Given the description of an element on the screen output the (x, y) to click on. 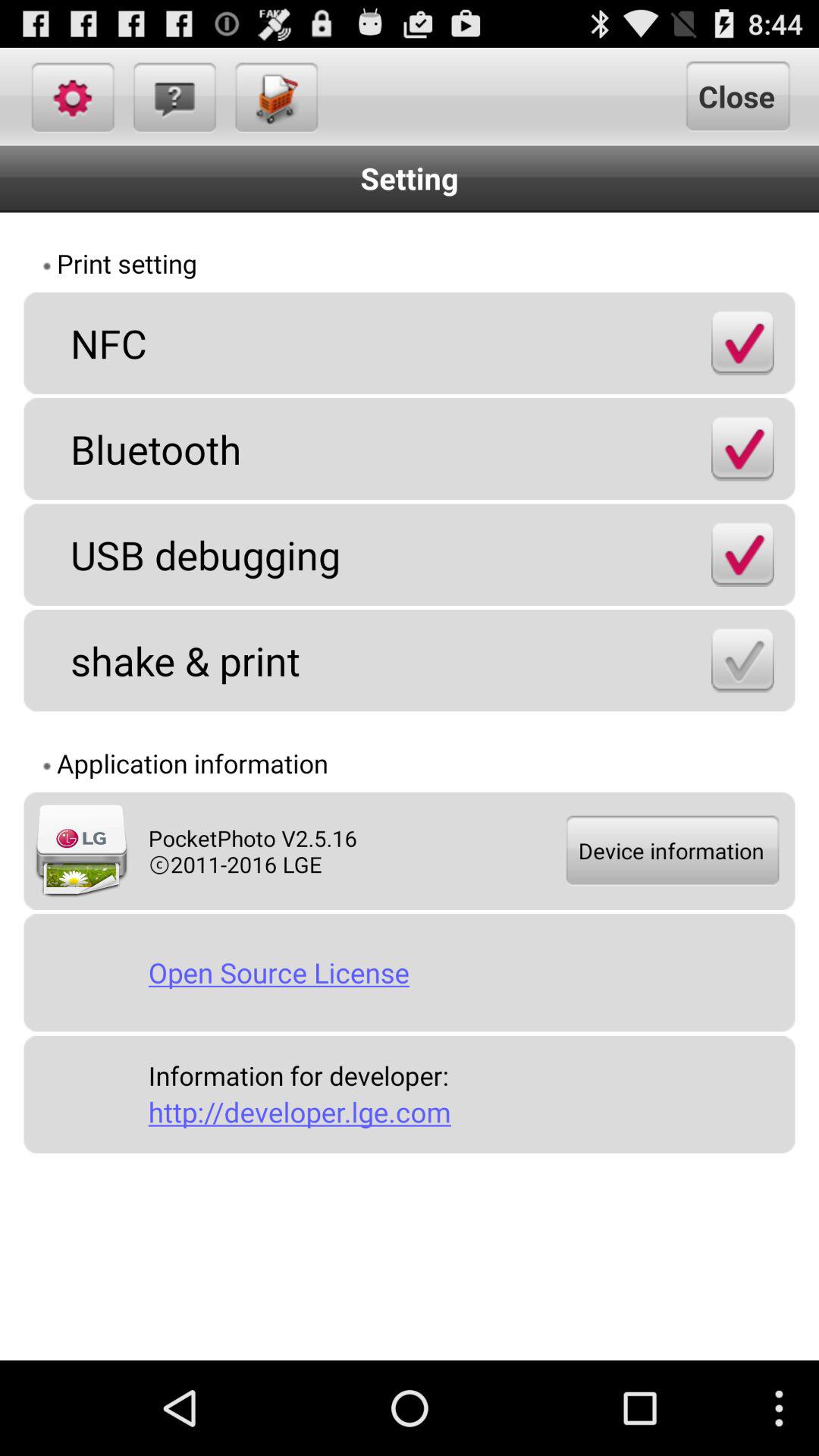
scroll until http developer lge item (466, 1111)
